Given the description of an element on the screen output the (x, y) to click on. 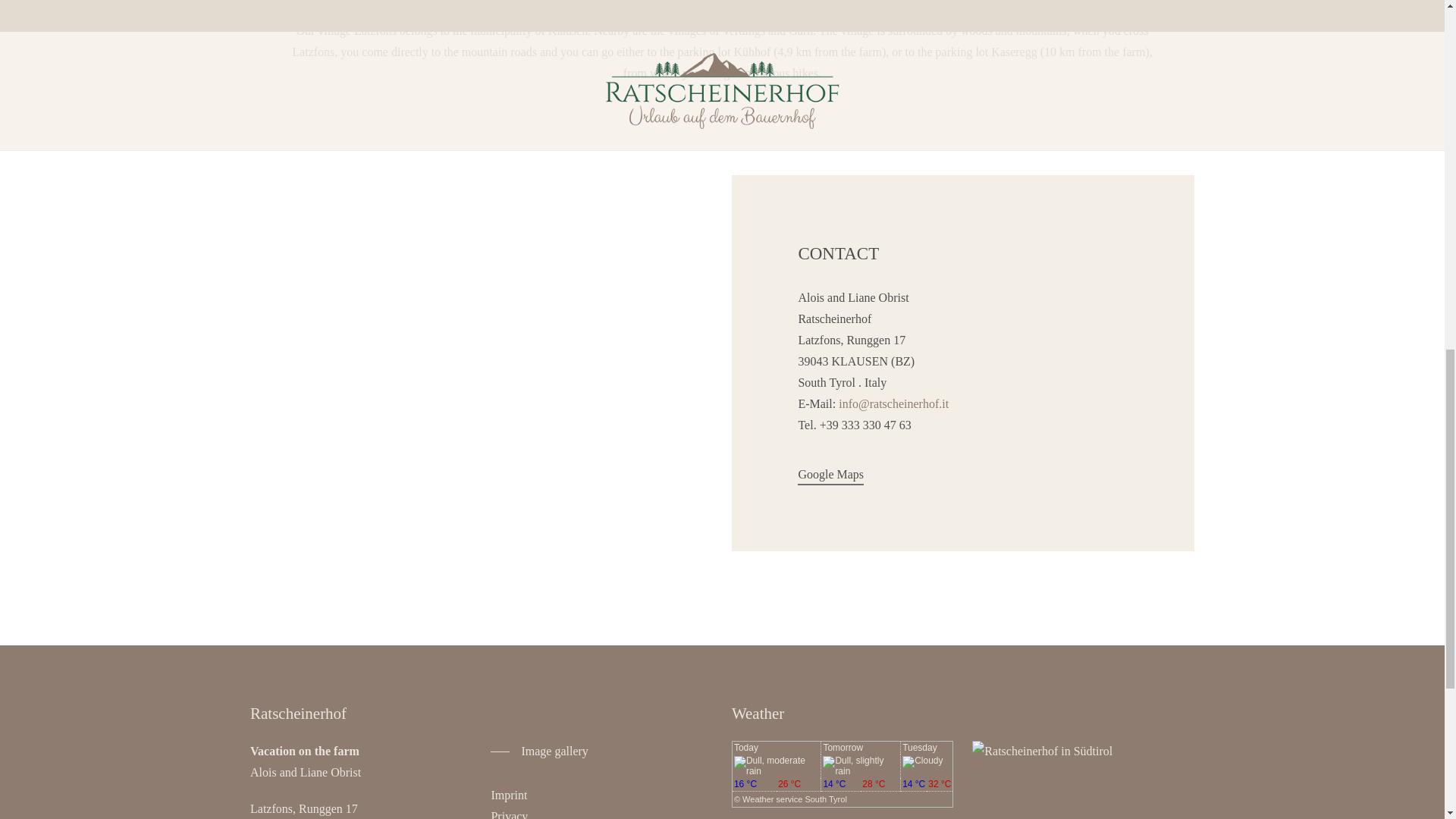
provider (794, 798)
max (798, 784)
Weather service South Tyrol (794, 798)
Image gallery (539, 751)
Google Maps (830, 474)
max (879, 784)
max (939, 784)
Privacy (508, 814)
Mitgliedsbetrieb (1042, 751)
min (840, 784)
